Given the description of an element on the screen output the (x, y) to click on. 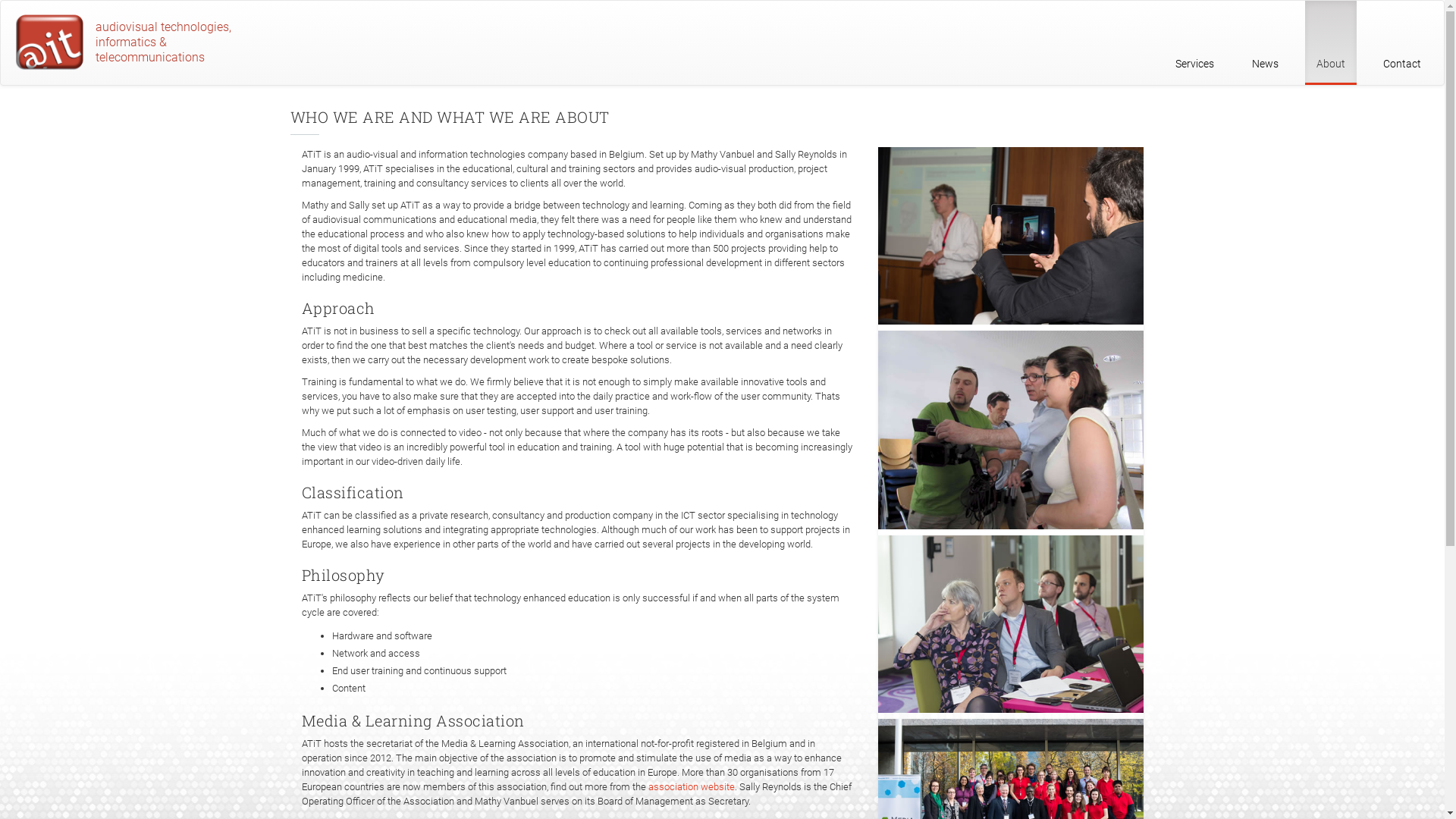
association website Element type: text (690, 786)
About Element type: text (1330, 42)
News Element type: text (1264, 42)
Services Element type: text (1194, 42)
audiovisual technologies, informatics & telecommunications Element type: text (129, 43)
Skip to main content Element type: text (0, 0)
Contact Element type: text (1401, 42)
